Given the description of an element on the screen output the (x, y) to click on. 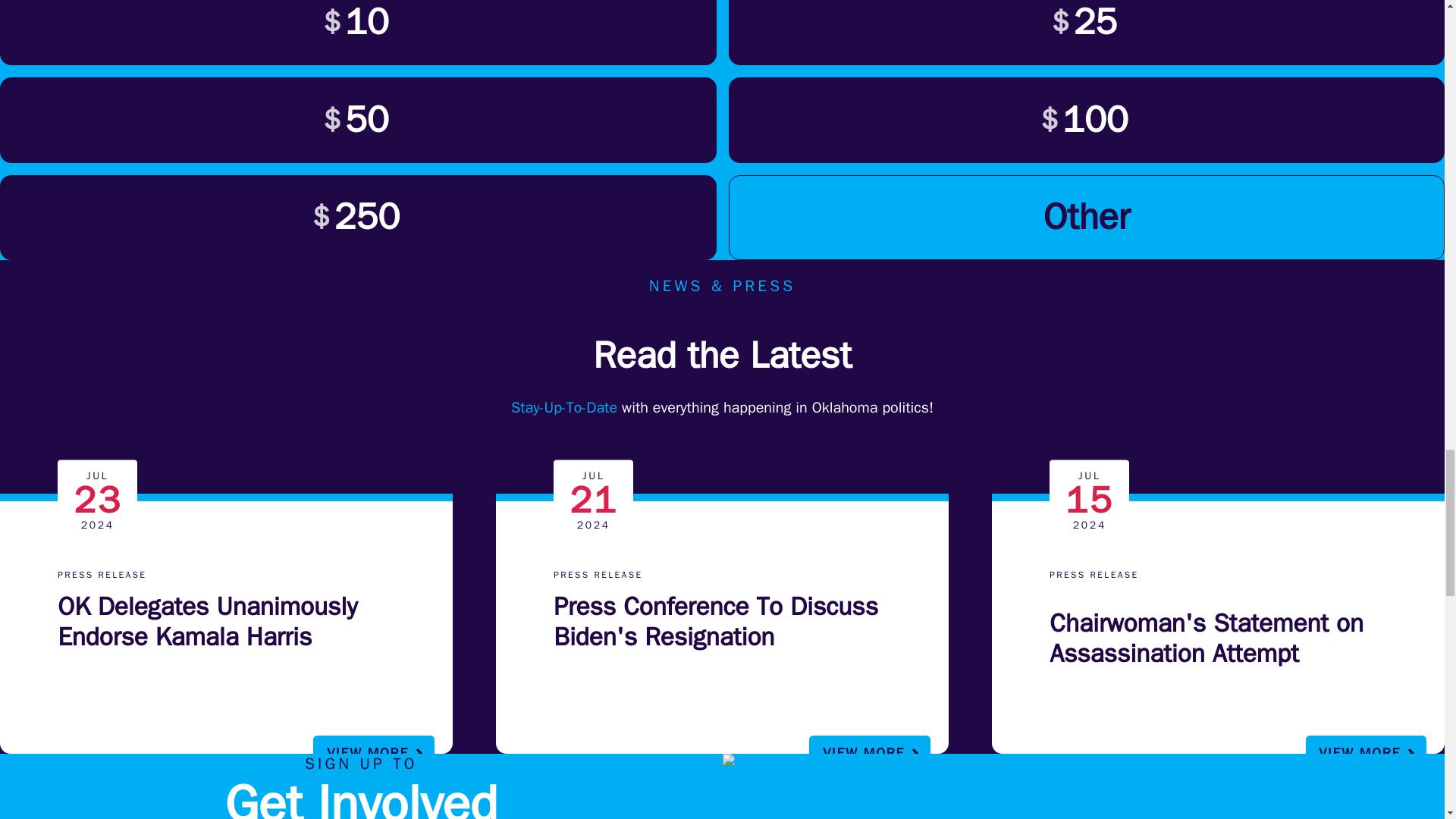
VIEW MORE (1366, 752)
VIEW MORE (869, 752)
VIEW MORE (373, 752)
